Given the description of an element on the screen output the (x, y) to click on. 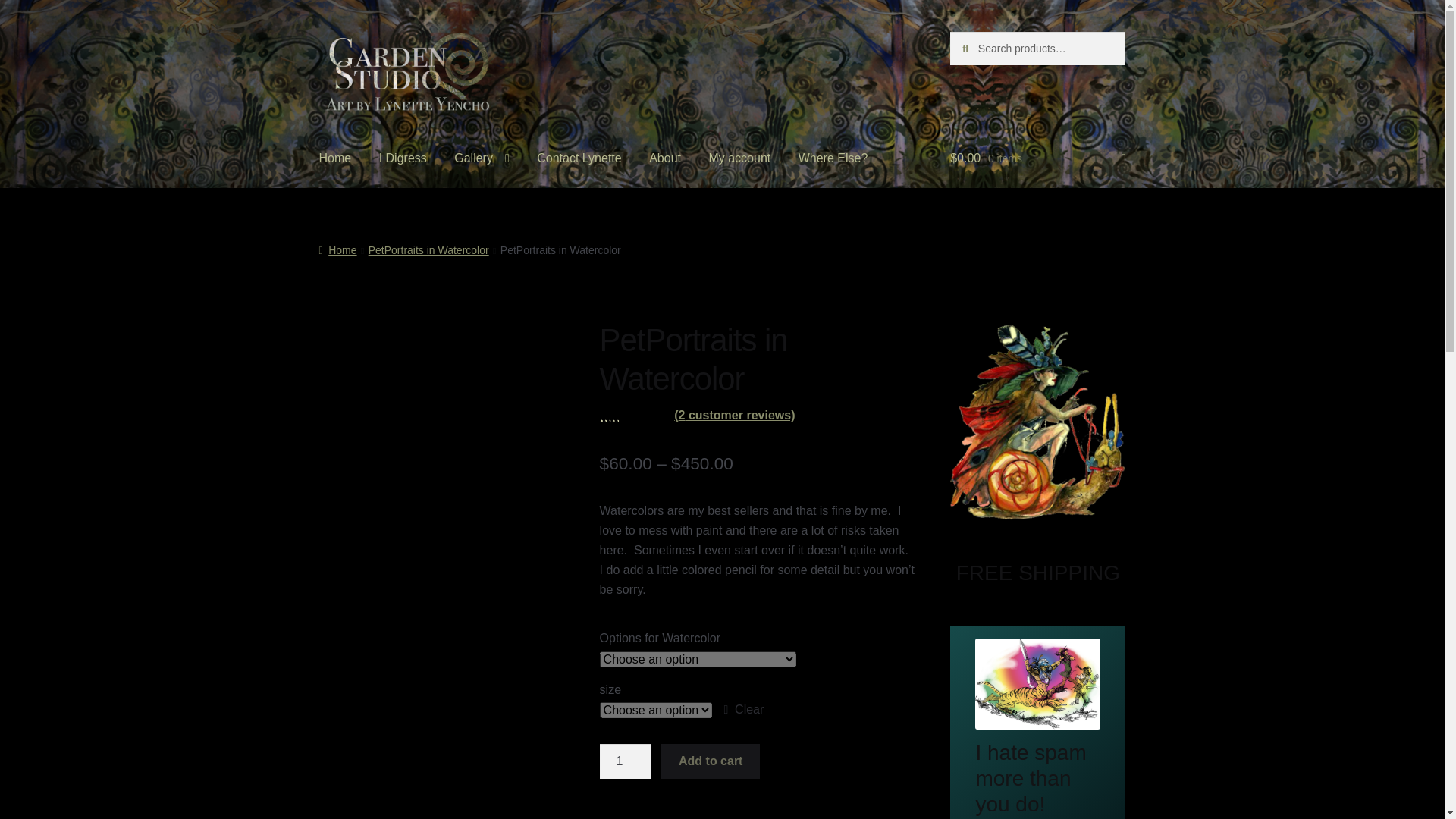
Home (335, 158)
I Digress (402, 158)
Where Else? (833, 158)
My account (739, 158)
1 (624, 760)
About (665, 158)
View your shopping cart (1037, 158)
Contact Lynette (578, 158)
